Given the description of an element on the screen output the (x, y) to click on. 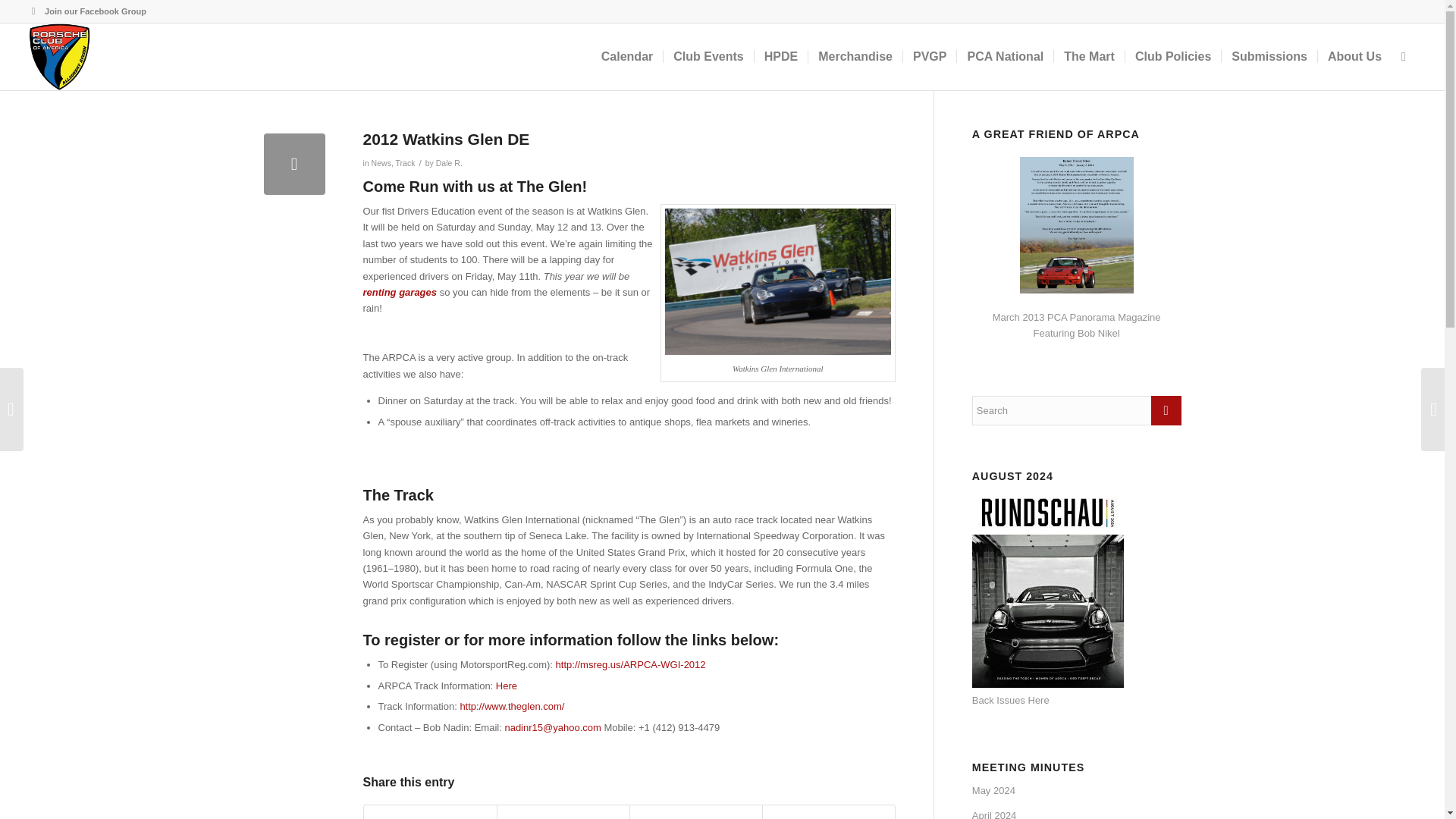
Merchandise (855, 56)
Club Events (707, 56)
DE WGI 2010 (778, 281)
Submissions (1269, 56)
Facebook (33, 11)
2012 Watkins Glen DE (293, 163)
Supporting Materials (506, 685)
PCA National (1004, 56)
Posts by Dale R. (449, 162)
Calendar (626, 56)
